Given the description of an element on the screen output the (x, y) to click on. 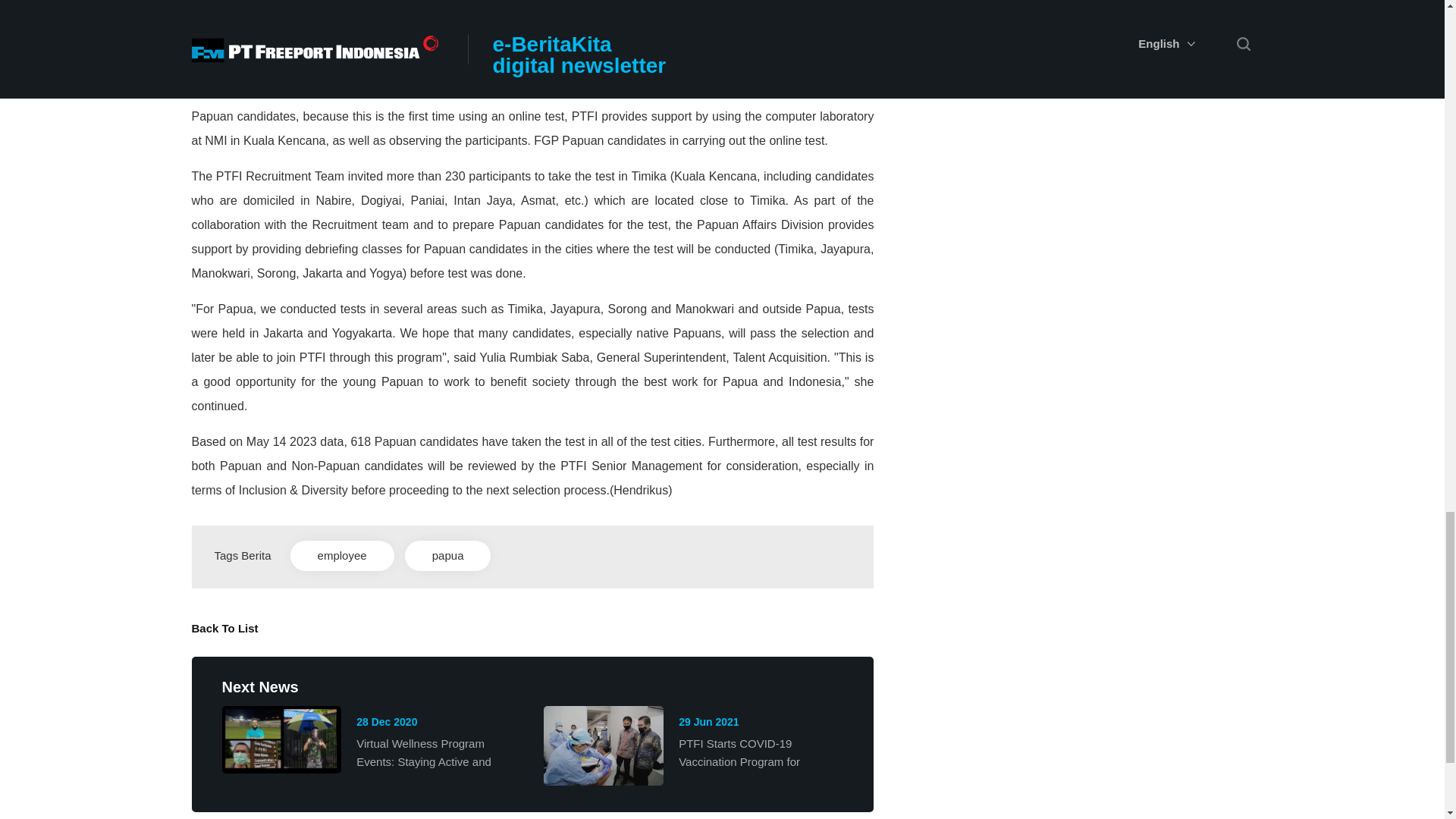
employee (341, 555)
Back To List (223, 627)
papua (448, 555)
